Given the description of an element on the screen output the (x, y) to click on. 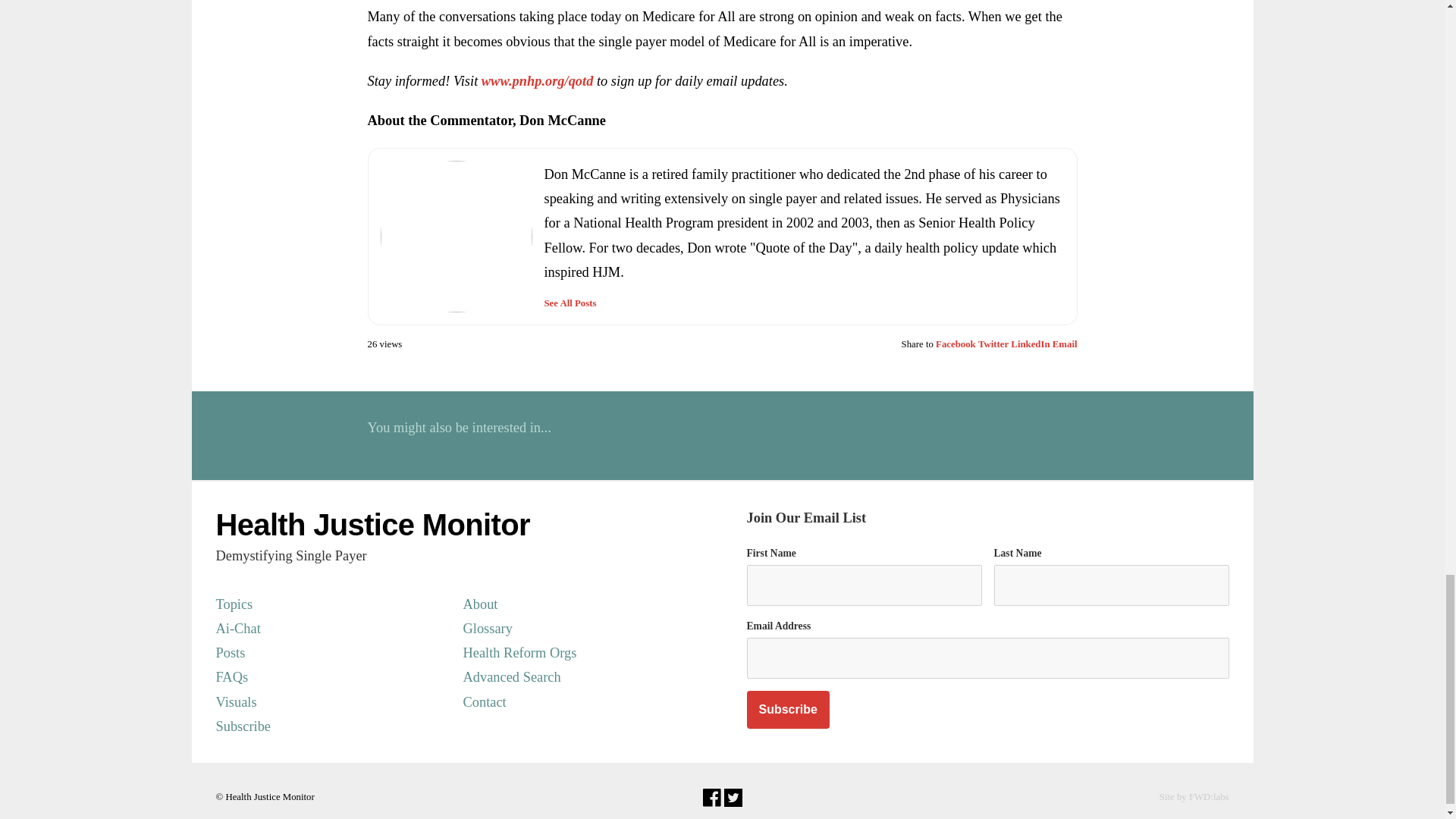
See All Posts (570, 303)
Contact (580, 702)
Subscribe (332, 726)
Email (1064, 344)
Advanced Search (580, 677)
About (580, 604)
Subscribe (786, 709)
Posts (332, 652)
Visuals (332, 702)
Twitter (993, 344)
LinkedIn (1029, 344)
Facebook (955, 344)
Topics (332, 604)
Health Reform Orgs (580, 652)
Glossary (580, 628)
